Given the description of an element on the screen output the (x, y) to click on. 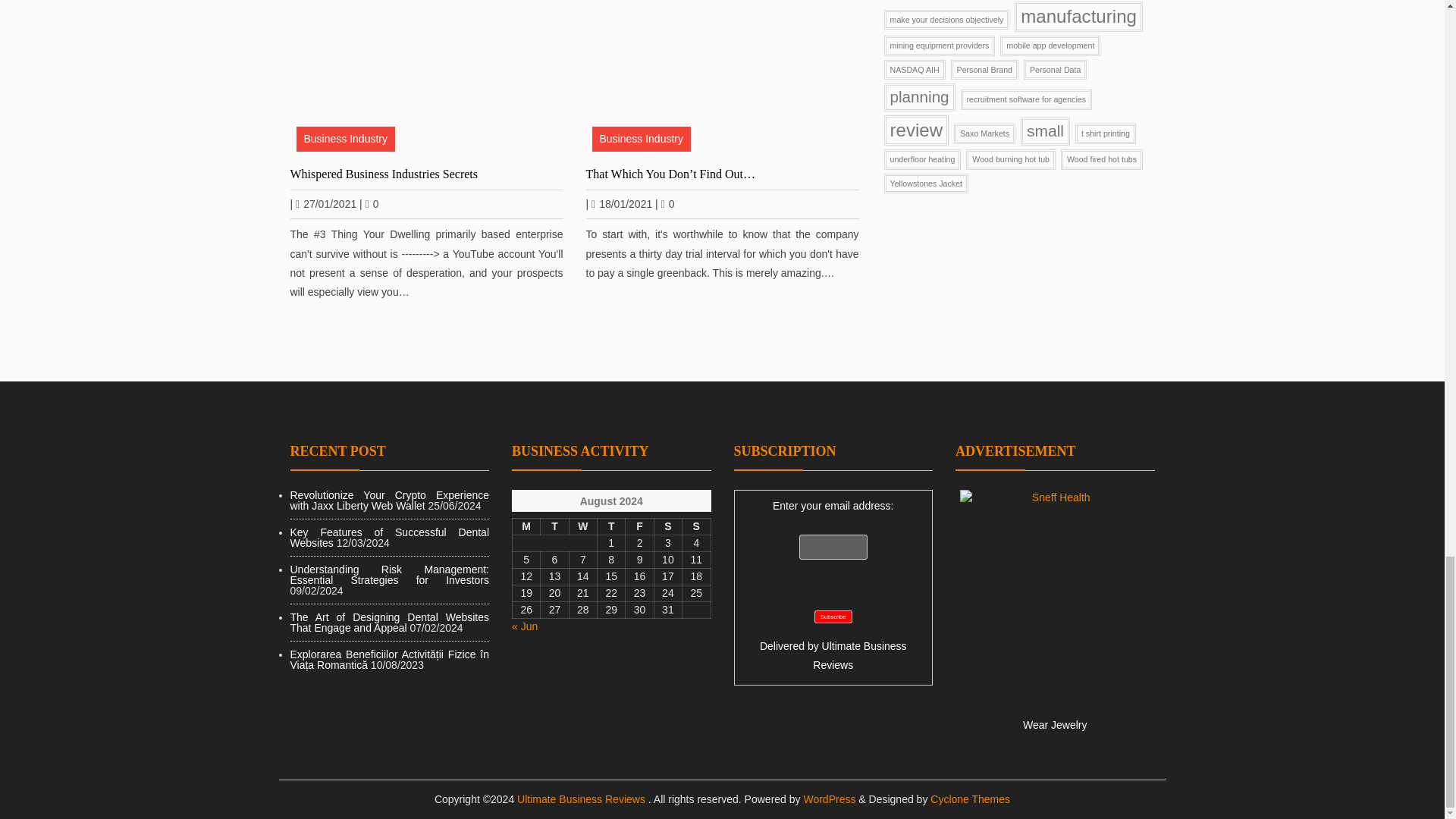
Business Industry (640, 138)
0 (371, 203)
Subscribe (832, 616)
Whispered Business Industries Secrets (425, 79)
Whispered Business Industries Secrets (425, 173)
That Which You Don't Find Out About Business Industries (722, 79)
Business Industry (344, 138)
